Given the description of an element on the screen output the (x, y) to click on. 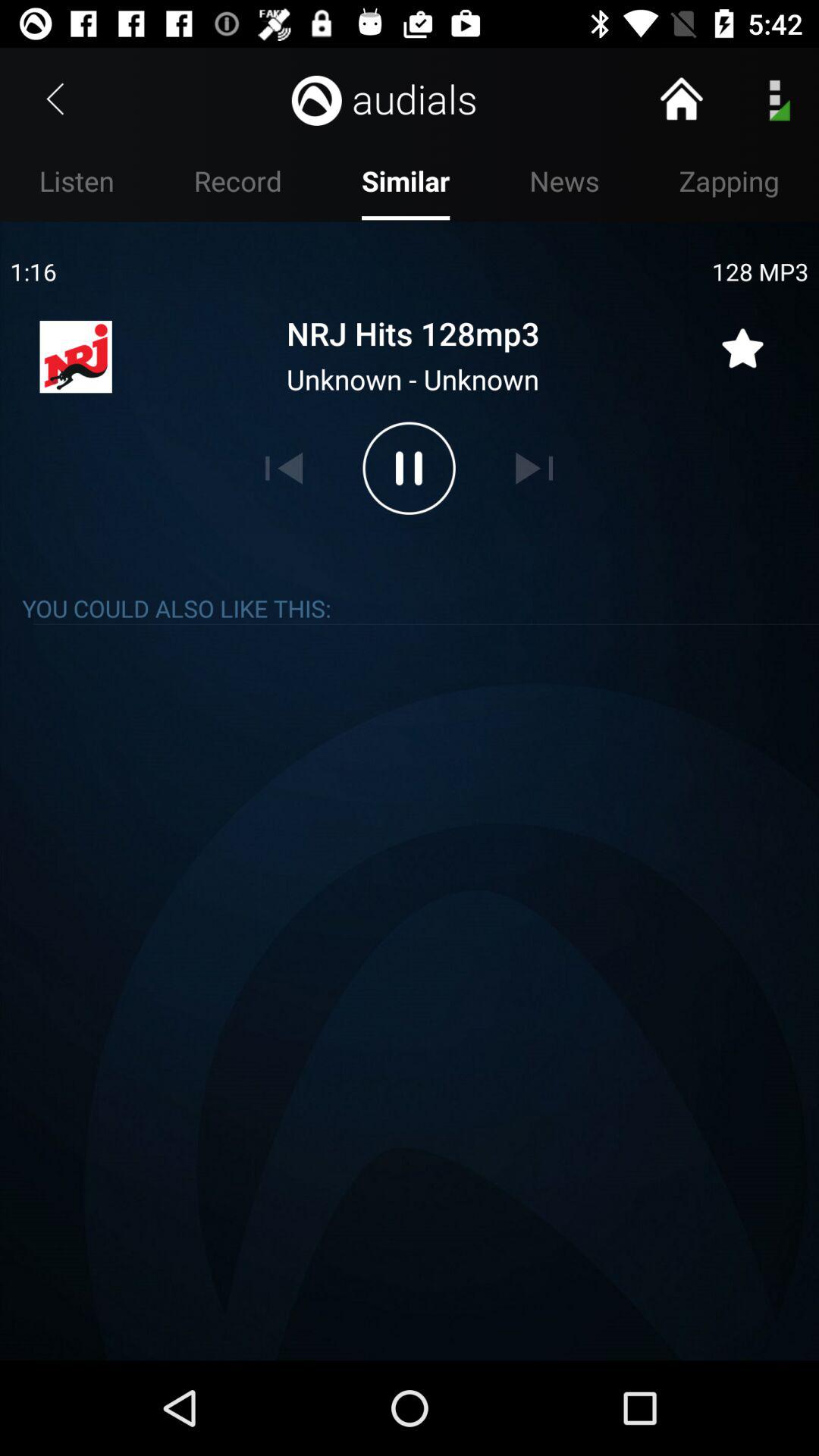
pause audio (408, 468)
